Given the description of an element on the screen output the (x, y) to click on. 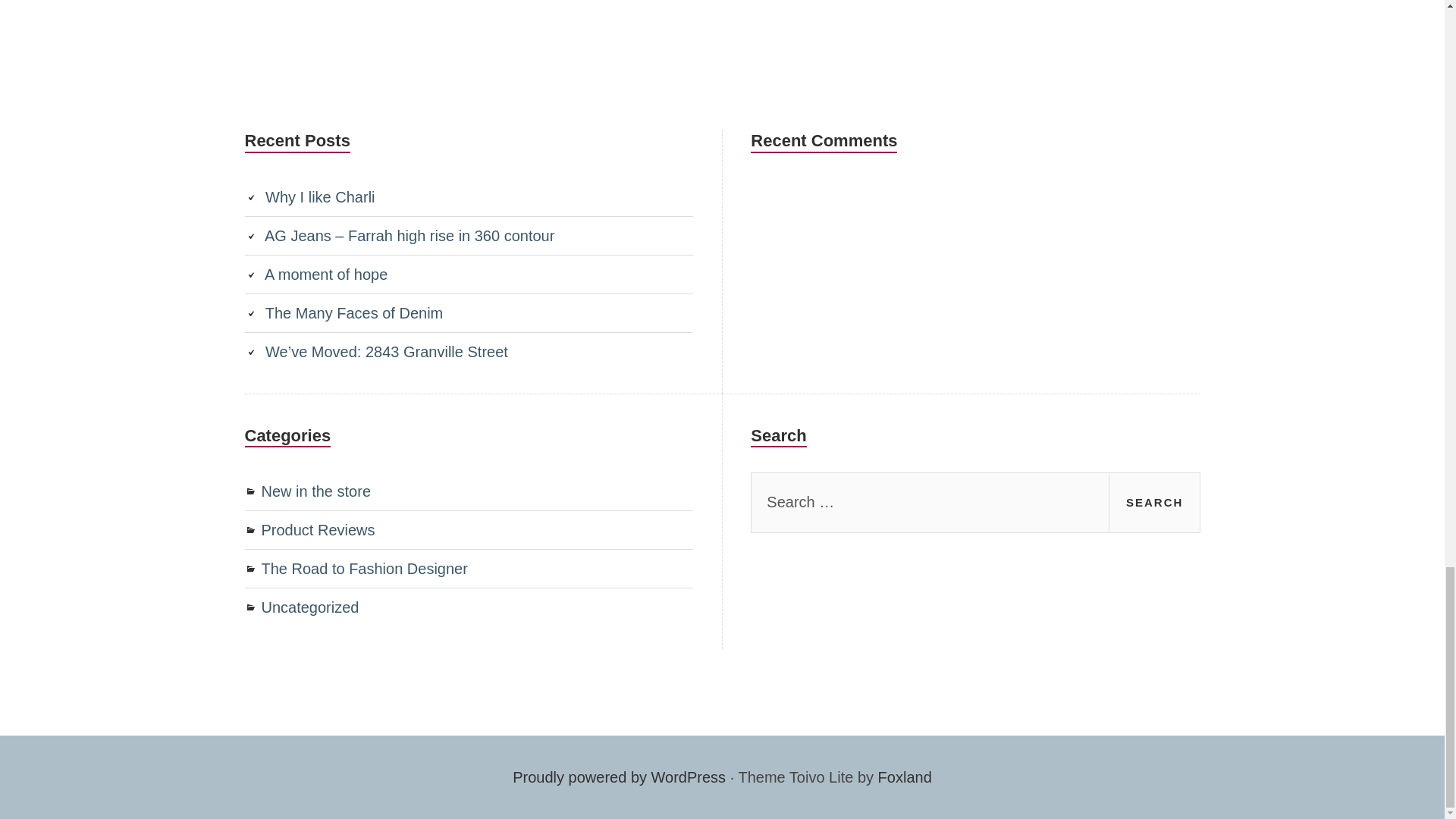
The Road to Fashion Designer (363, 568)
Search (1153, 502)
A moment of hope (325, 274)
Uncategorized (309, 606)
New in the store (315, 491)
Search (1153, 502)
Product Reviews (317, 529)
Foxland (904, 777)
The Many Faces of Denim (354, 312)
Proudly powered by WordPress (618, 777)
Search (1153, 502)
Why I like Charli (319, 197)
